Given the description of an element on the screen output the (x, y) to click on. 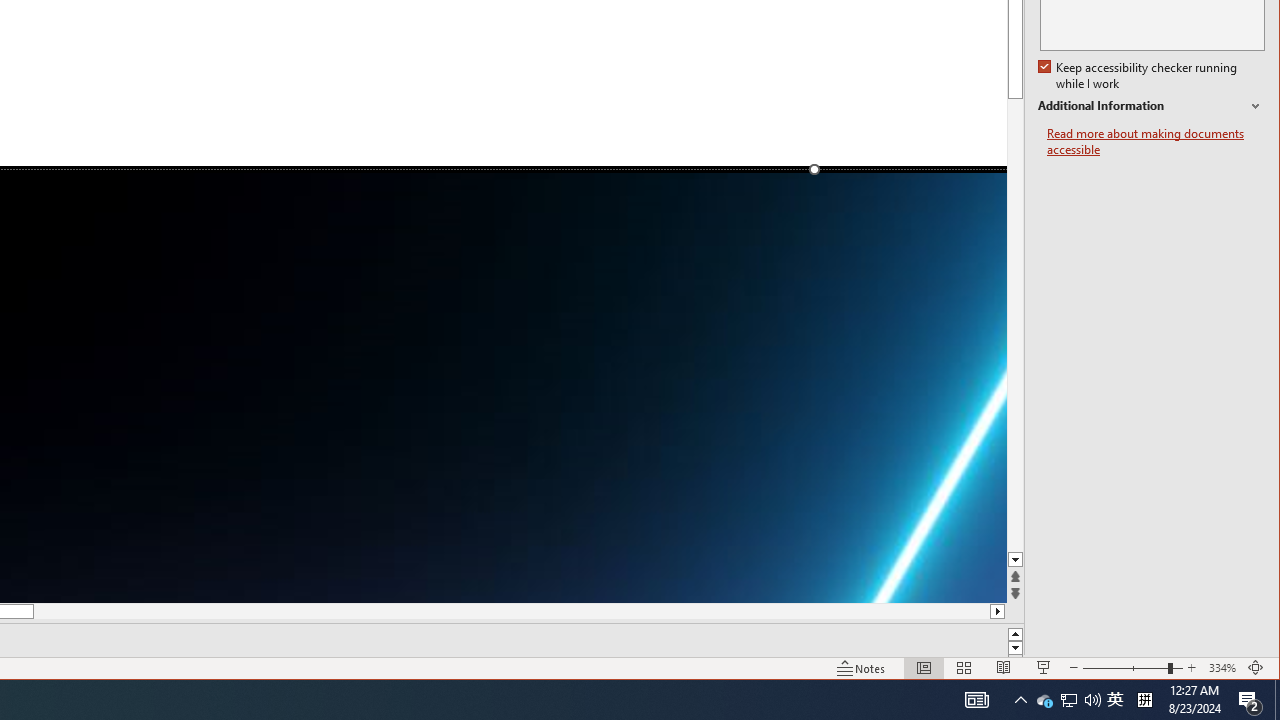
Zoom 334% (1222, 668)
Read more about making documents accessible (1155, 142)
Additional Information (1151, 106)
